Given the description of an element on the screen output the (x, y) to click on. 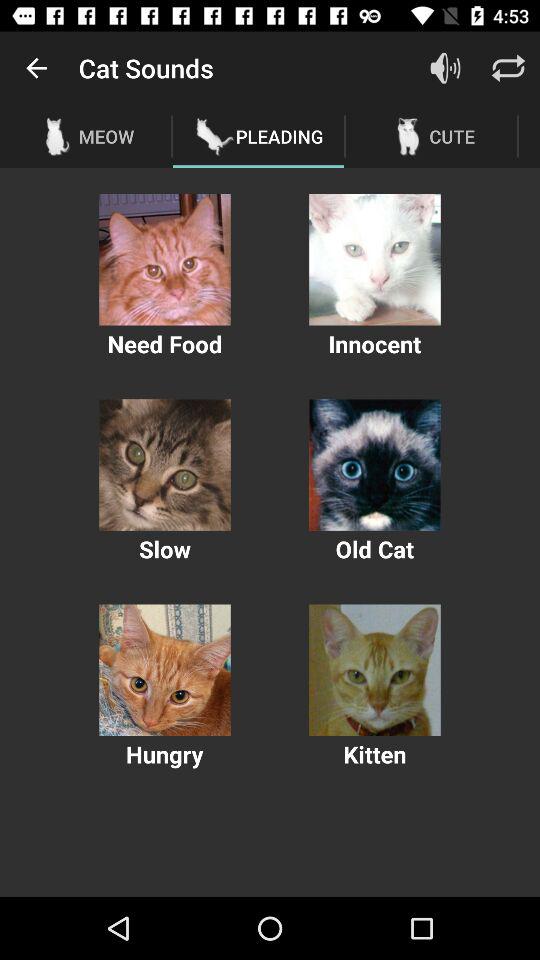
plays audio of selected image (374, 259)
